Given the description of an element on the screen output the (x, y) to click on. 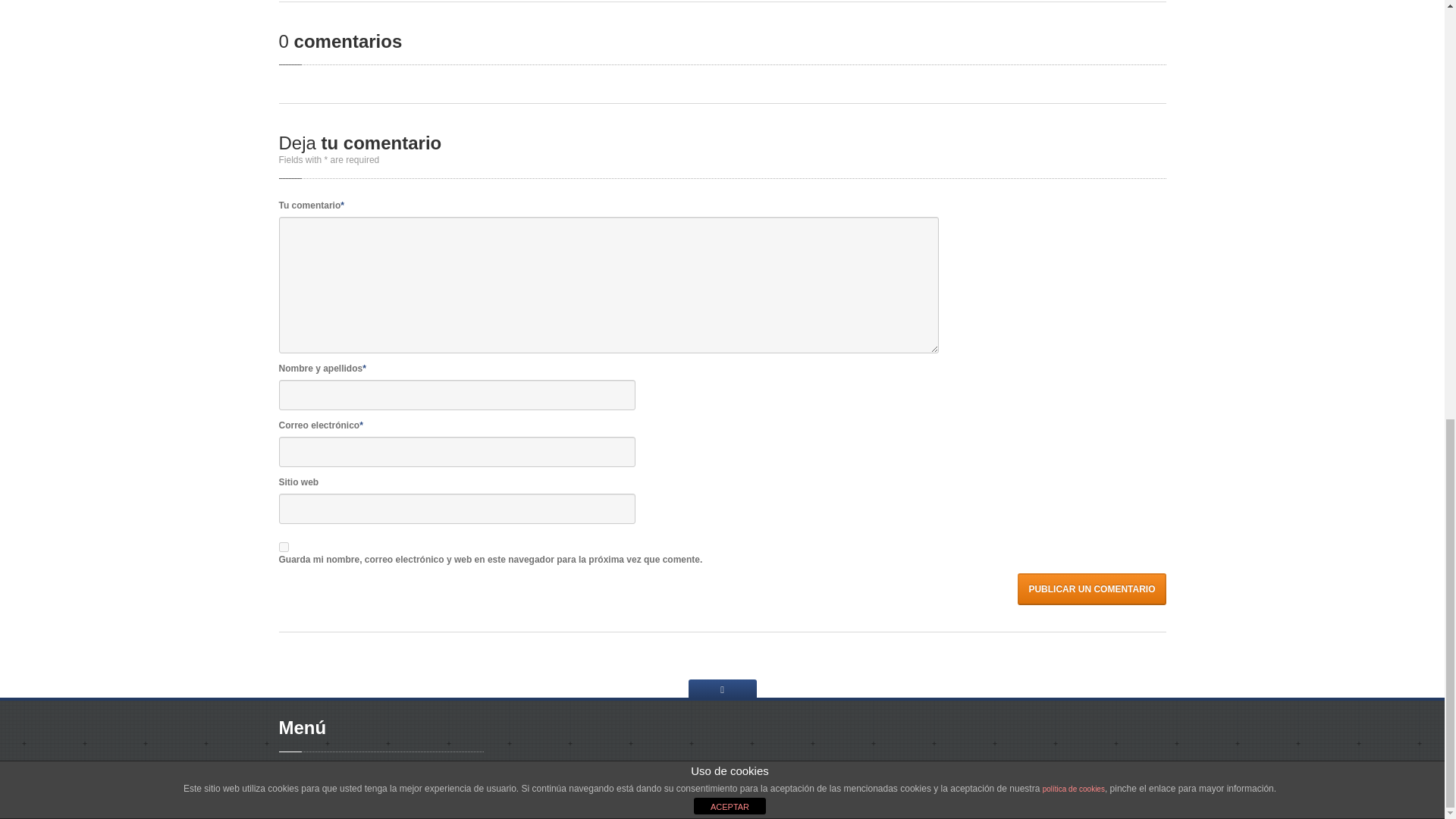
yes (283, 547)
Publicar un comentario (1091, 589)
Publicar un comentario (1091, 589)
